Given the description of an element on the screen output the (x, y) to click on. 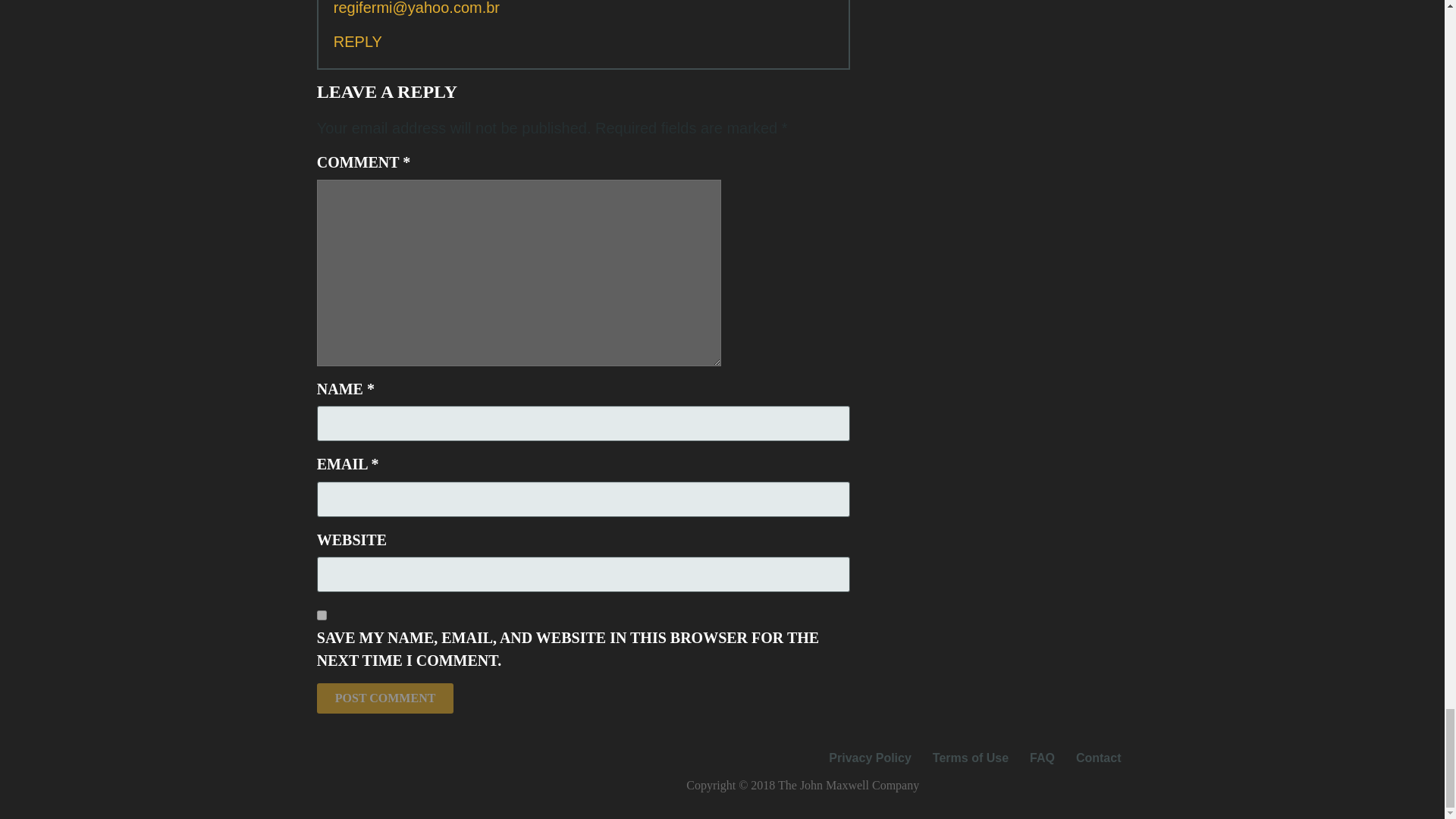
yes (321, 614)
Post Comment (385, 698)
